Given the description of an element on the screen output the (x, y) to click on. 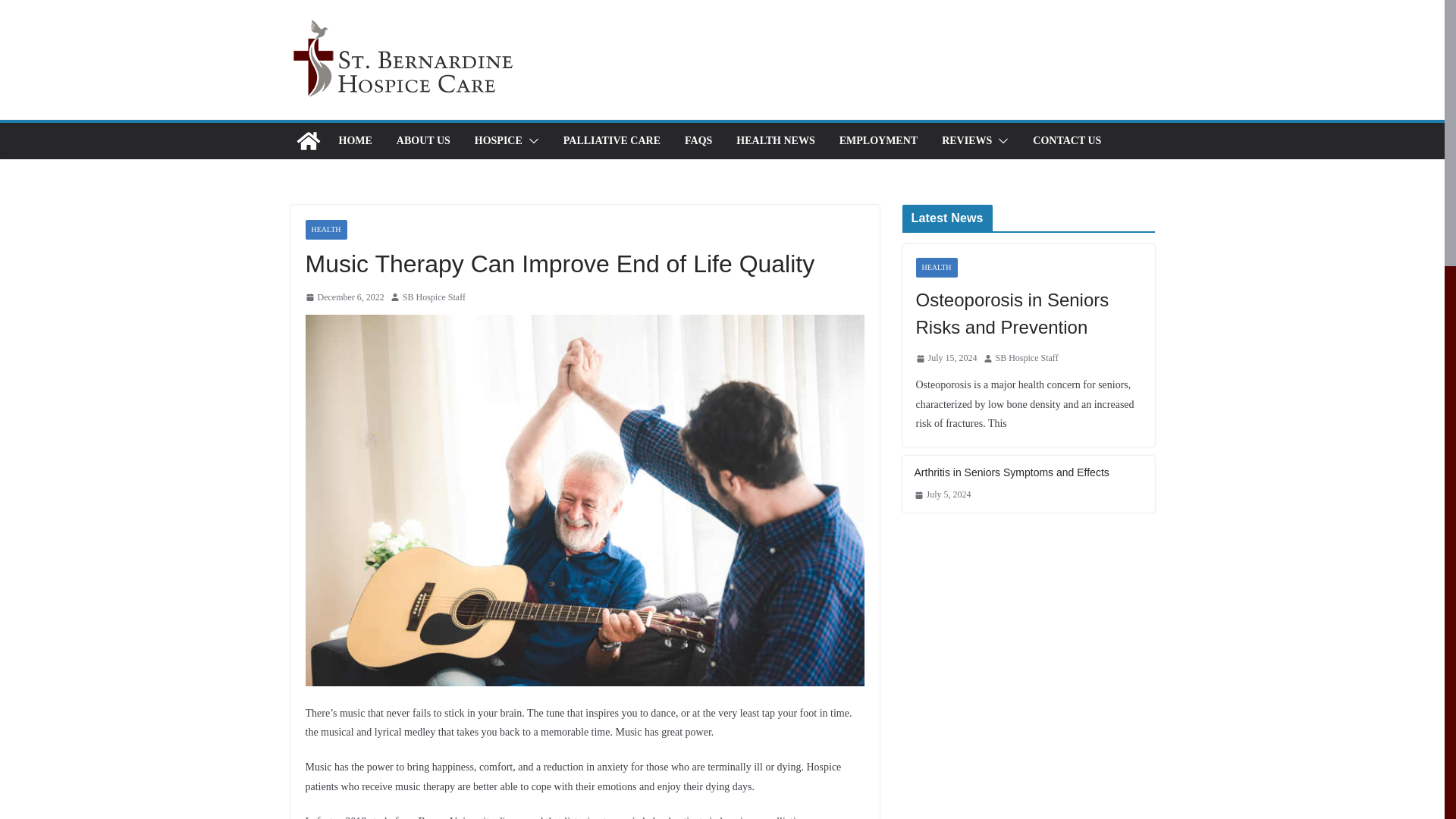
CONTACT US (1066, 140)
HOME (354, 140)
REVIEWS (966, 140)
HEALTH NEWS (774, 140)
ABOUT US (422, 140)
HEALTH (325, 229)
FAQS (697, 140)
HOSPICE (498, 140)
7:00 am (344, 297)
PALLIATIVE CARE (612, 140)
St Bernardine Hospice Care (307, 140)
SB Hospice Staff (434, 297)
EMPLOYMENT (878, 140)
December 6, 2022 (344, 297)
SB Hospice Staff (434, 297)
